Given the description of an element on the screen output the (x, y) to click on. 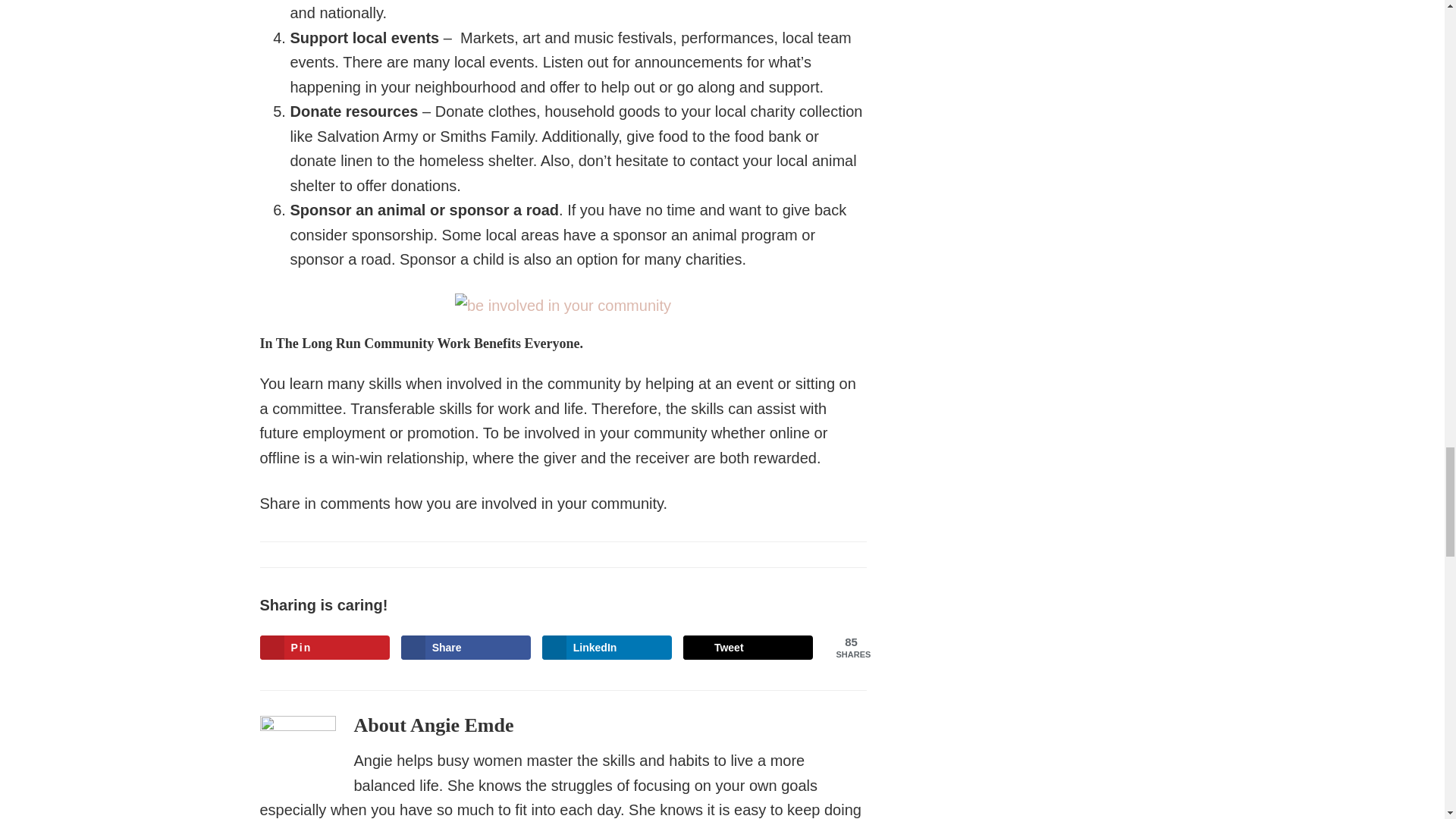
Share on Facebook (466, 647)
LinkedIn (606, 647)
Save to Pinterest (324, 647)
Pin (324, 647)
Share on X (747, 647)
Tweet (747, 647)
Share on LinkedIn (606, 647)
Share (466, 647)
